Given the description of an element on the screen output the (x, y) to click on. 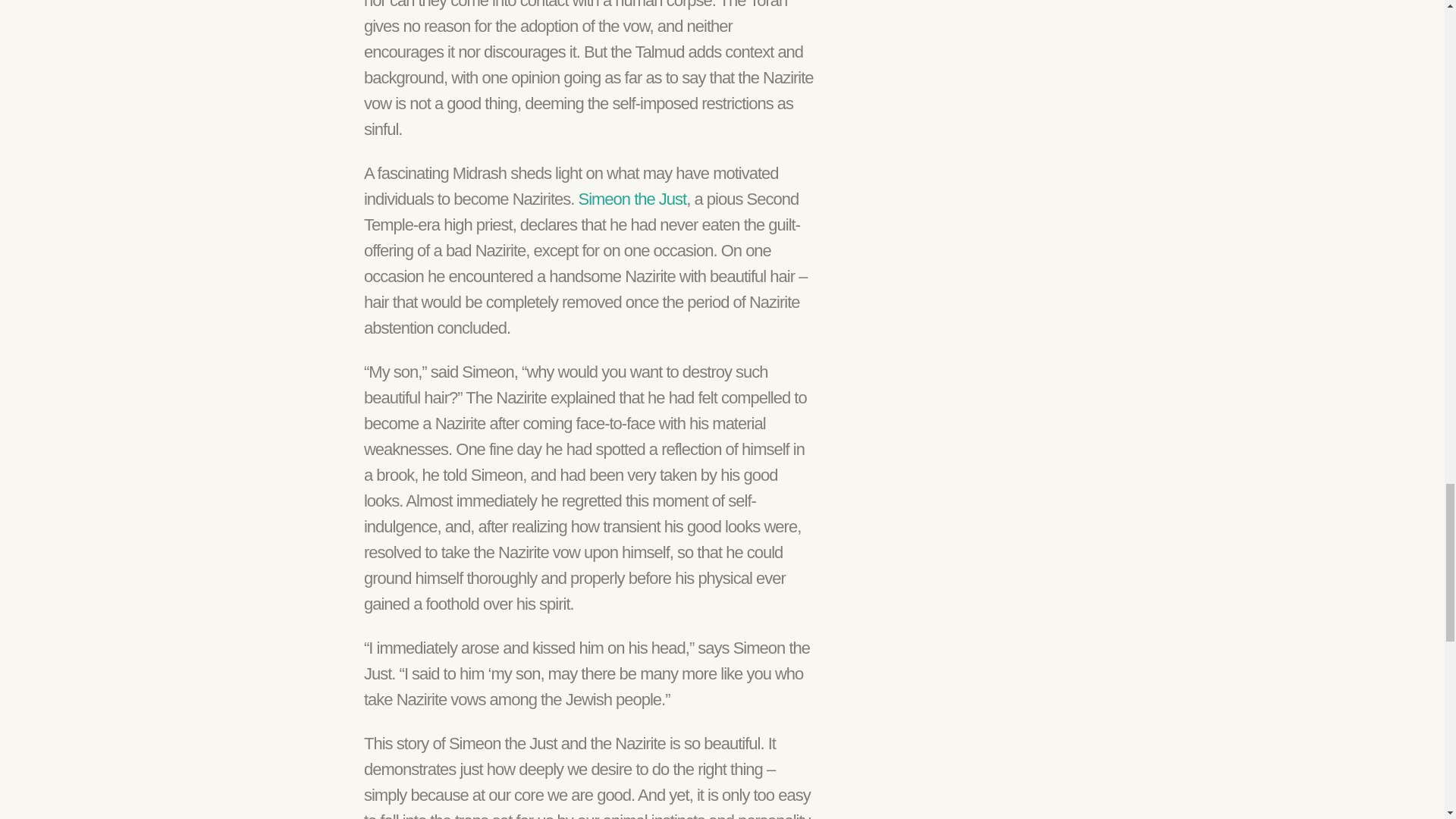
Simeon the Just (631, 198)
